Given the description of an element on the screen output the (x, y) to click on. 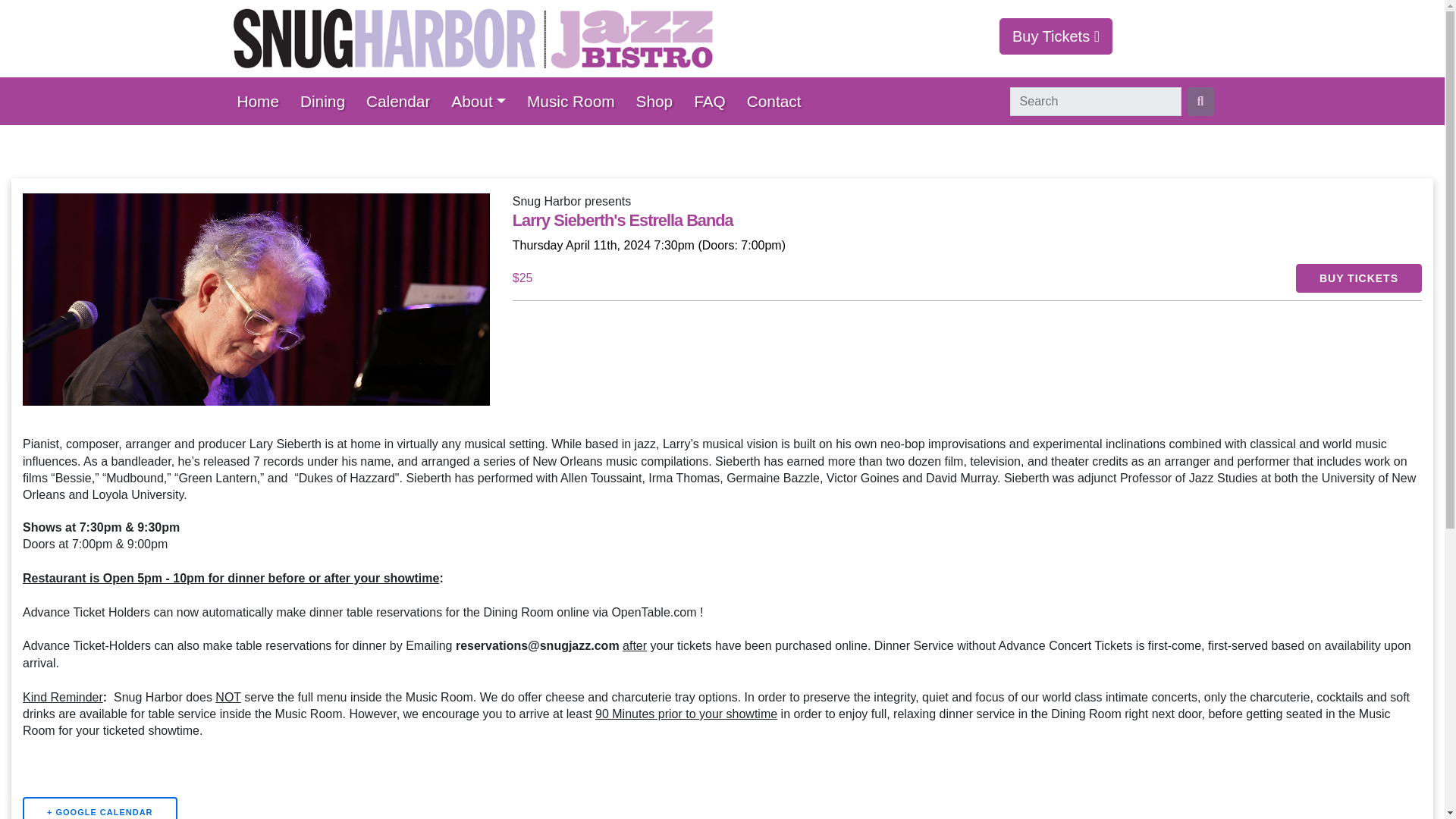
About (483, 100)
Music Room (575, 100)
FAQ (714, 100)
Contact (778, 100)
Snug Harbor Jazz Bistro (471, 38)
Dining (326, 100)
Home (262, 100)
Buy Tickets (1055, 36)
Dining (326, 100)
Shop (659, 100)
Calendar (402, 100)
FAQ (714, 100)
Calendar (402, 100)
Add to Google Calendar (100, 807)
Home (262, 100)
